Given the description of an element on the screen output the (x, y) to click on. 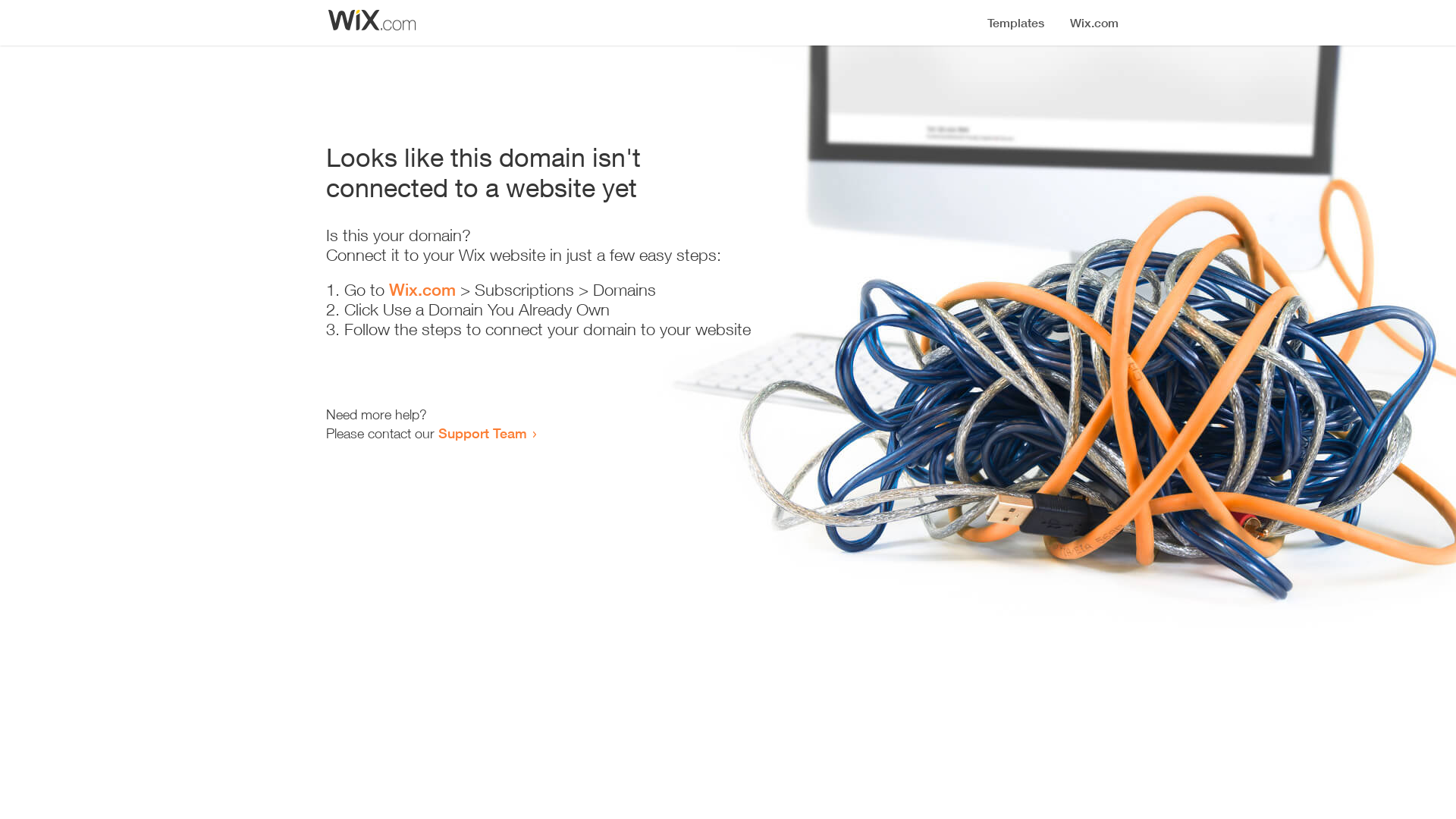
Support Team Element type: text (482, 432)
Wix.com Element type: text (422, 289)
